Given the description of an element on the screen output the (x, y) to click on. 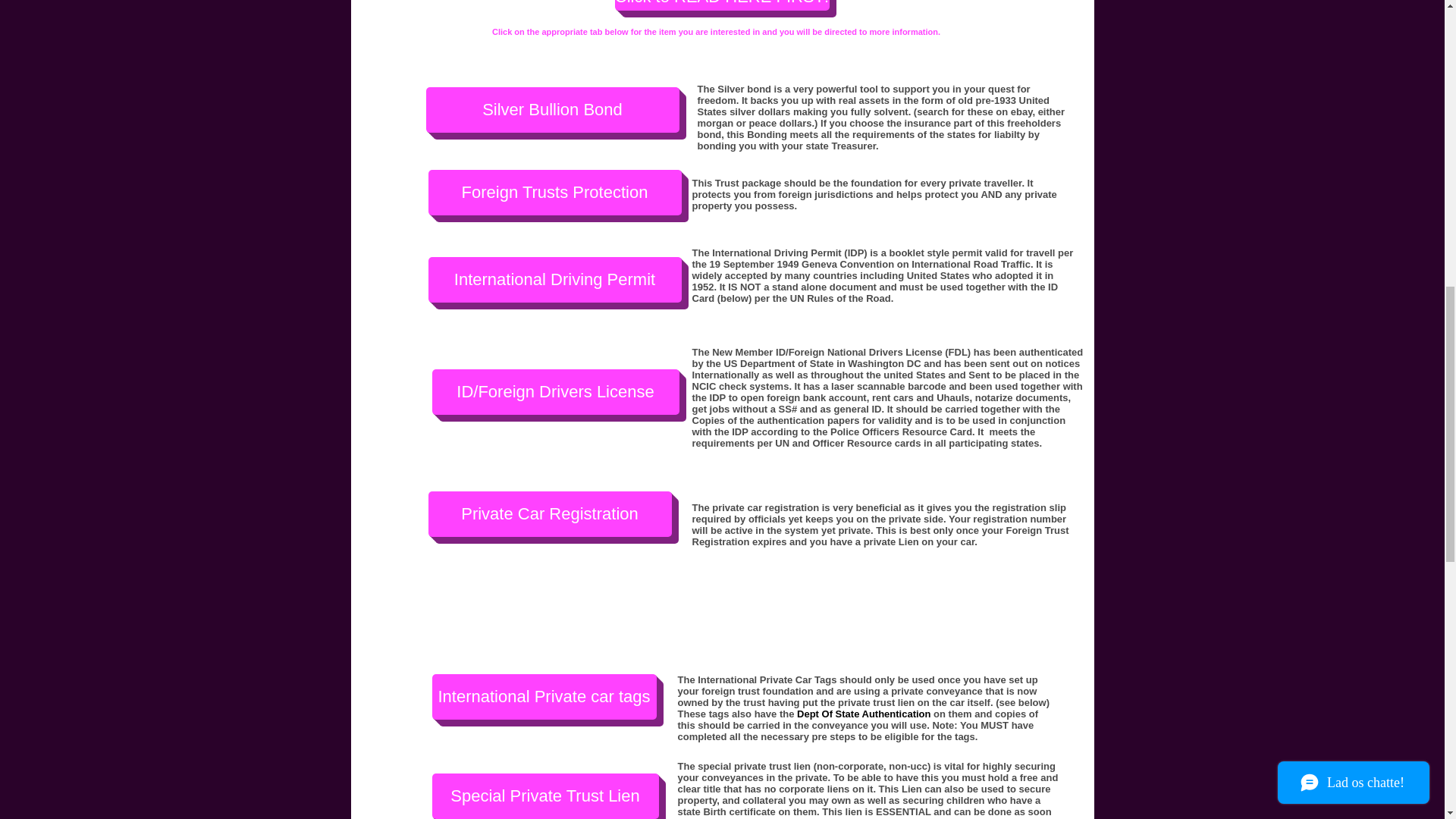
Foreign Trusts Protection (554, 192)
Special Private Trust Lien (545, 796)
Silver Bullion Bond (552, 109)
Private Car Registration (549, 514)
International Private car tags (544, 696)
International Driving Permit (554, 279)
Click to READ HERE FIRST! (721, 5)
